Given the description of an element on the screen output the (x, y) to click on. 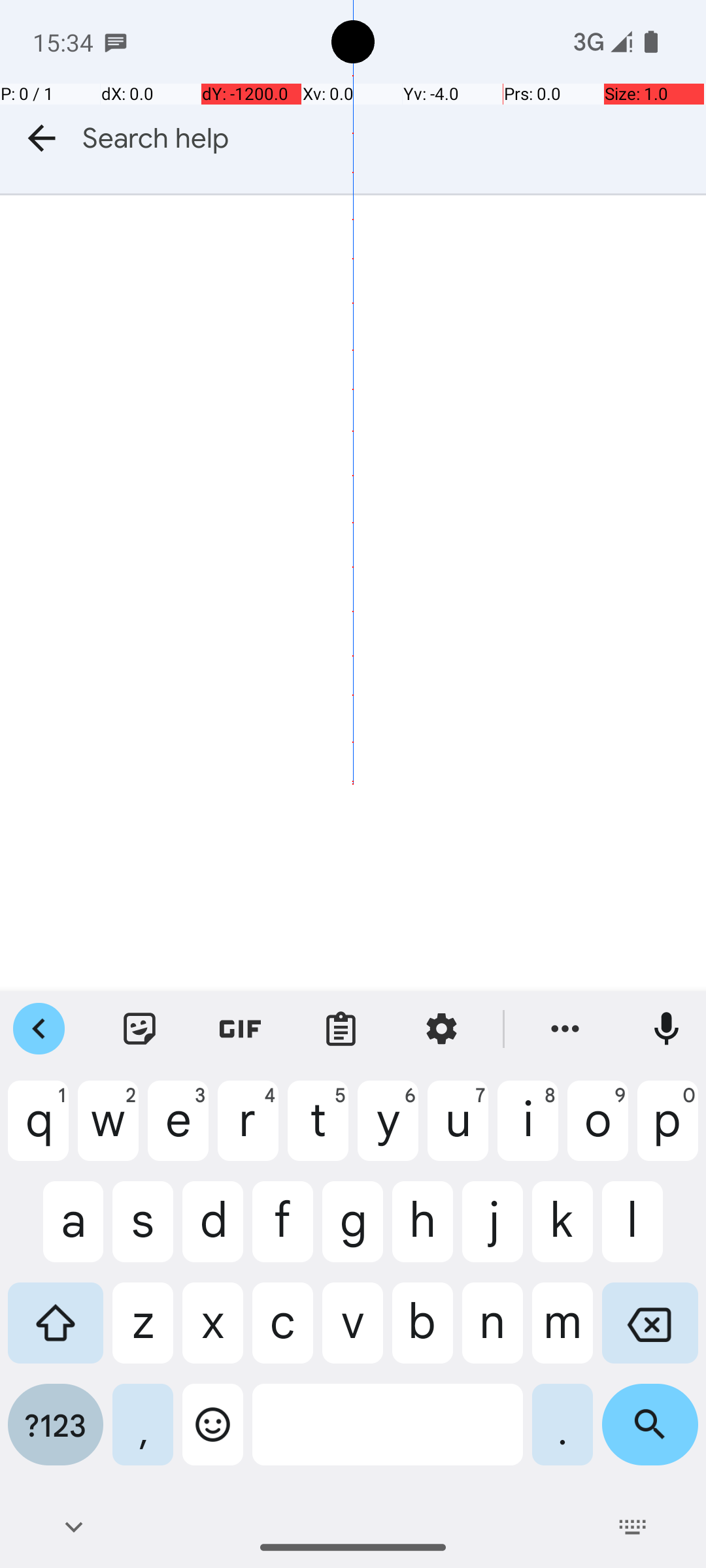
Search help Element type: android.widget.EditText (394, 138)
